Given the description of an element on the screen output the (x, y) to click on. 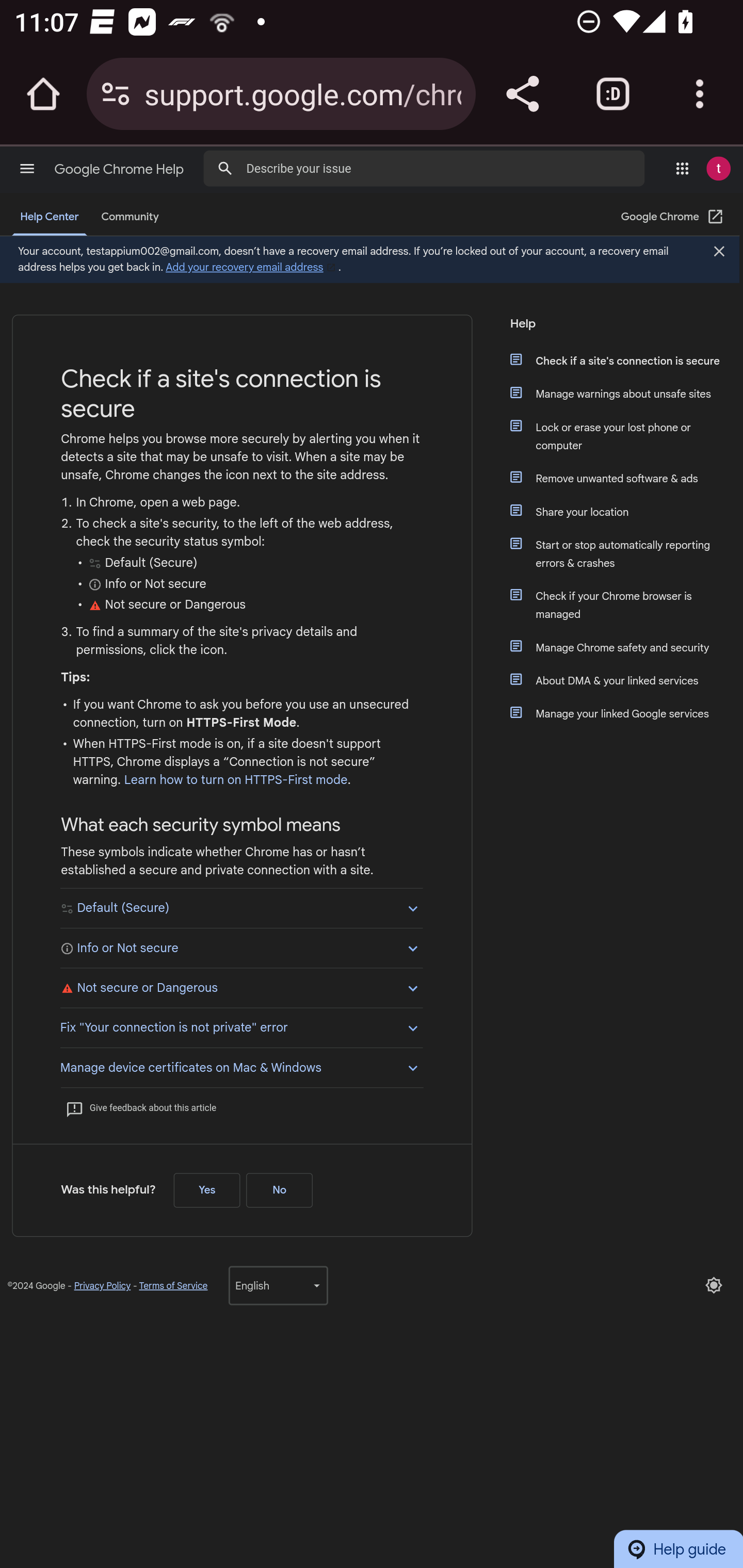
Open the home page (43, 93)
Connection is secure (115, 93)
Share (522, 93)
Switch or close tabs (612, 93)
Customize and control Google Chrome (699, 93)
